Given the description of an element on the screen output the (x, y) to click on. 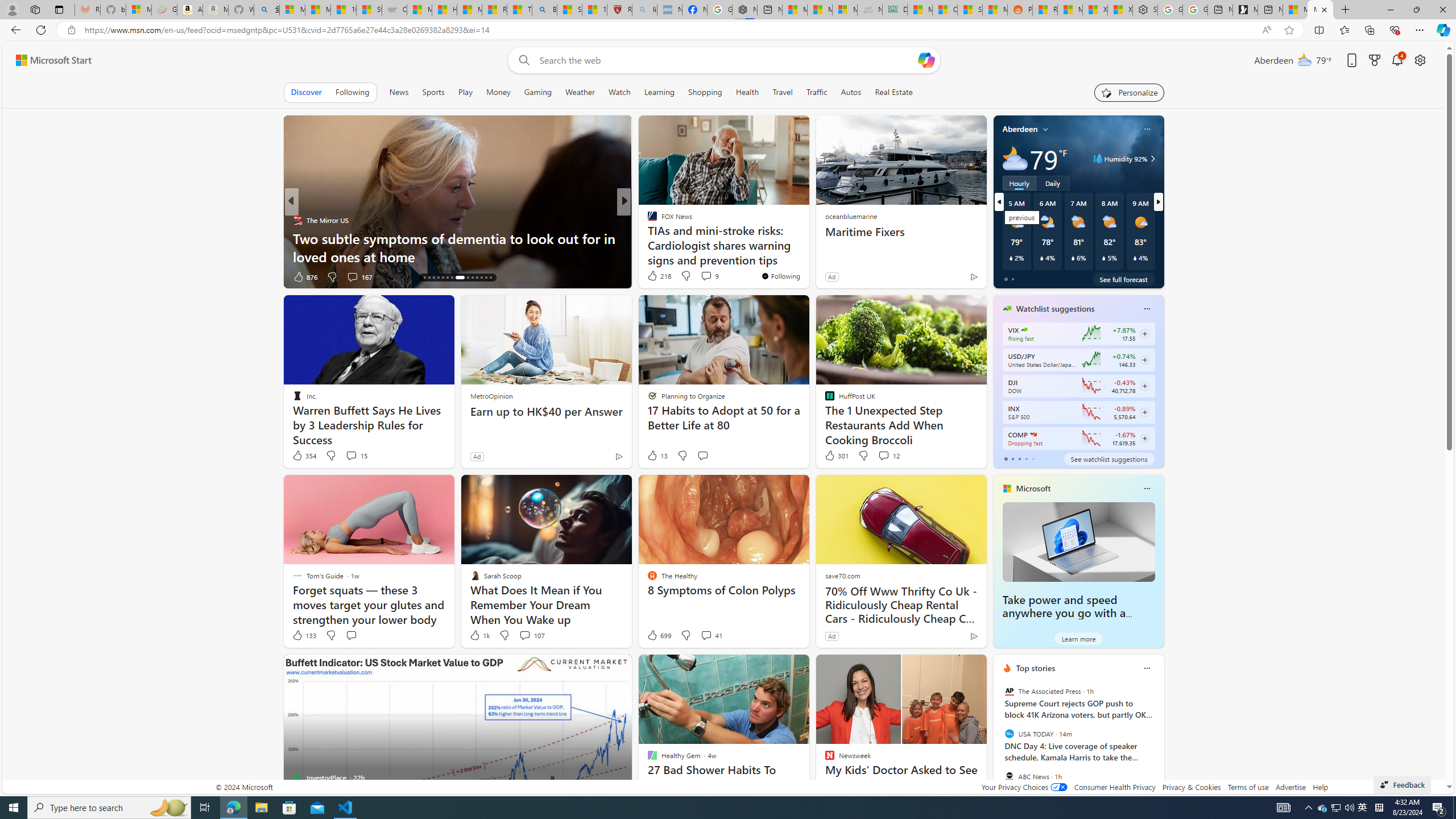
Recipes - MSN (494, 9)
View comments 23 Comment (703, 276)
Shopping (705, 92)
